Given the description of an element on the screen output the (x, y) to click on. 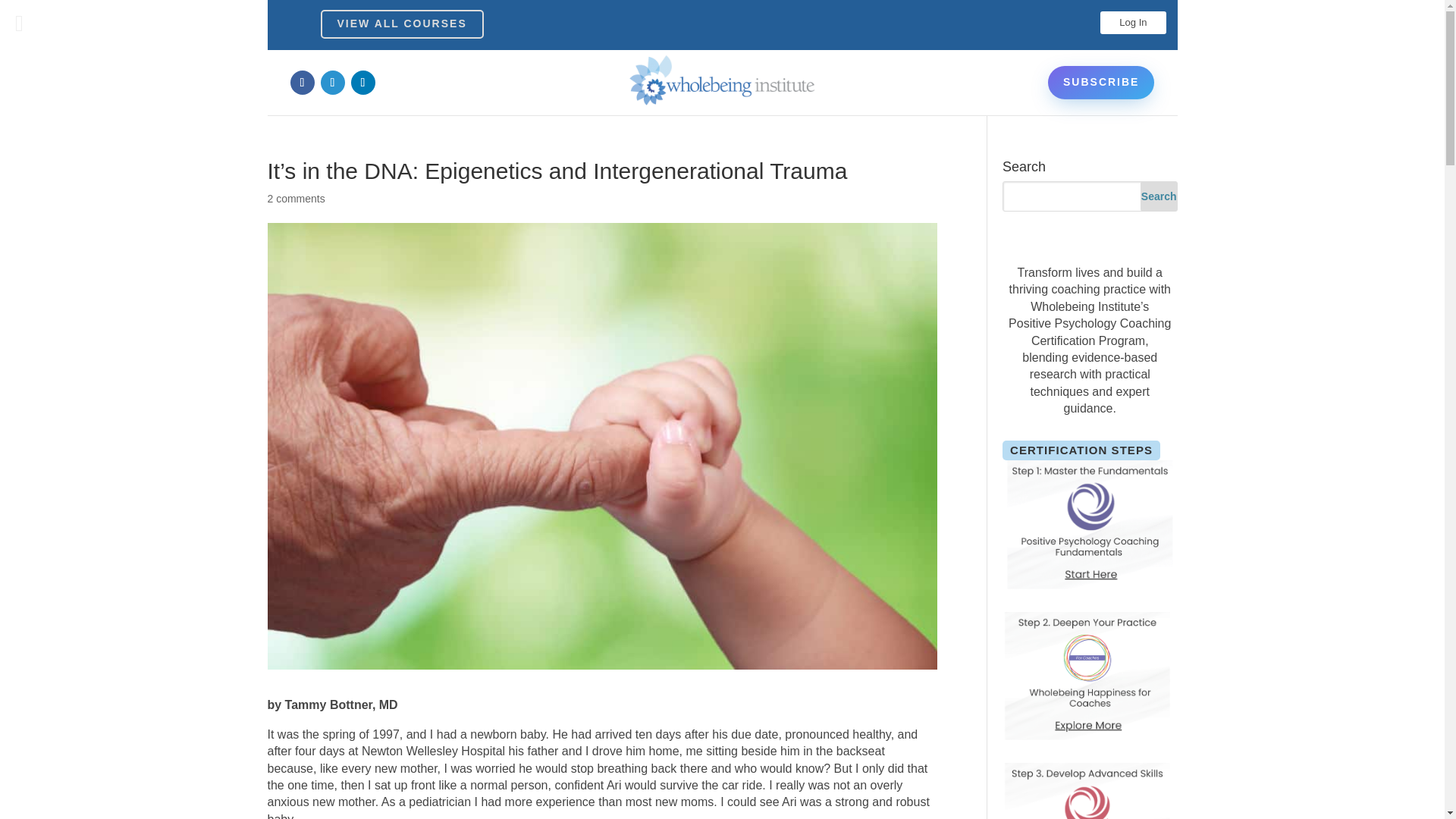
VIEW ALL COURSES (401, 23)
Search (1158, 195)
Follow on X (331, 82)
SUBSCRIBE (1101, 82)
Follow on LinkedIn (362, 82)
Log In (1133, 22)
Follow on Facebook (301, 82)
Search (1158, 195)
2 comments (295, 198)
